Given the description of an element on the screen output the (x, y) to click on. 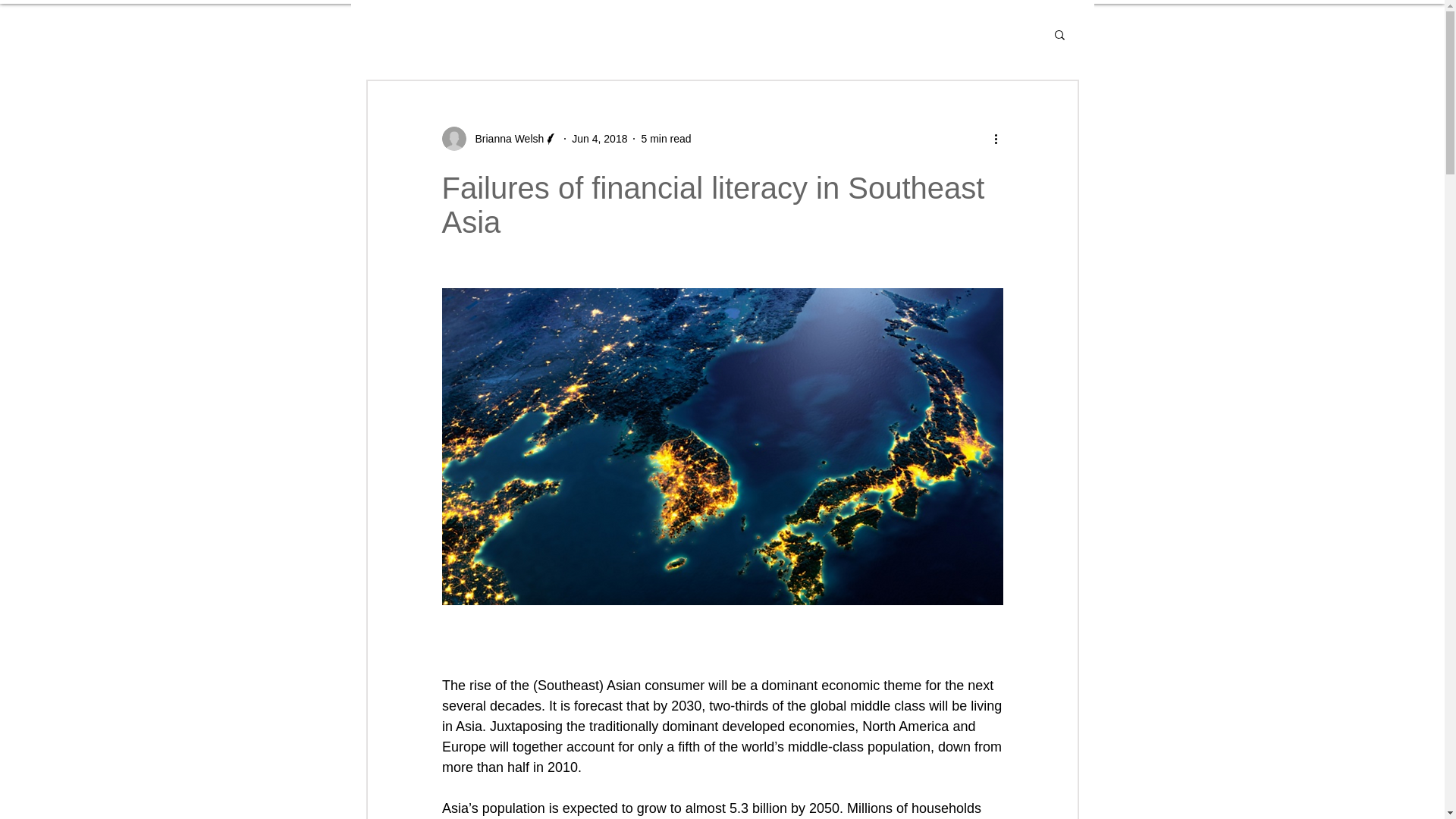
Jun 4, 2018 (599, 137)
Brianna Welsh (504, 138)
5 min read (665, 137)
